Given the description of an element on the screen output the (x, y) to click on. 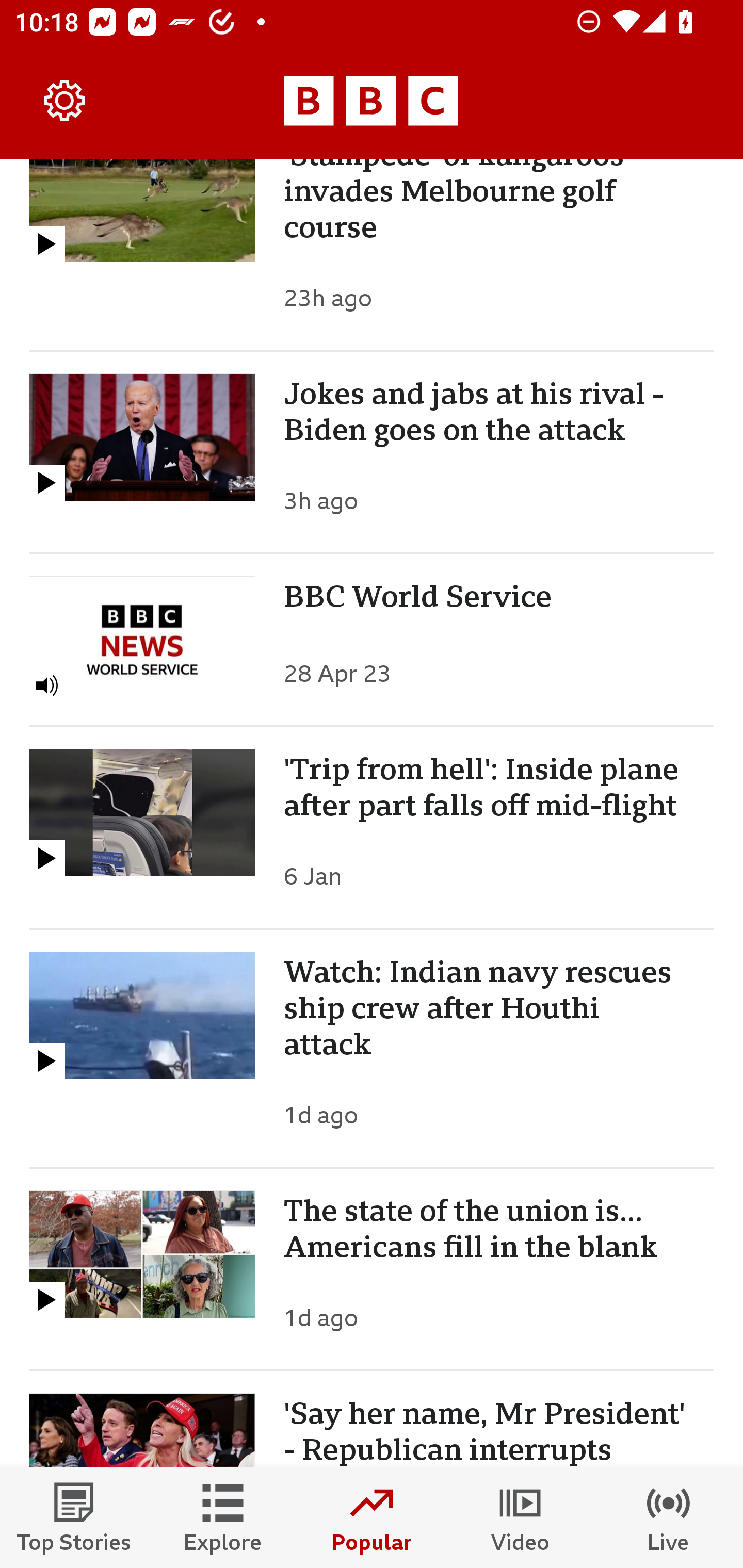
Settings (64, 100)
BBC World Service Listen 28 Apr 23 28 April (371, 639)
Top Stories (74, 1517)
Explore (222, 1517)
Video (519, 1517)
Live (668, 1517)
